Given the description of an element on the screen output the (x, y) to click on. 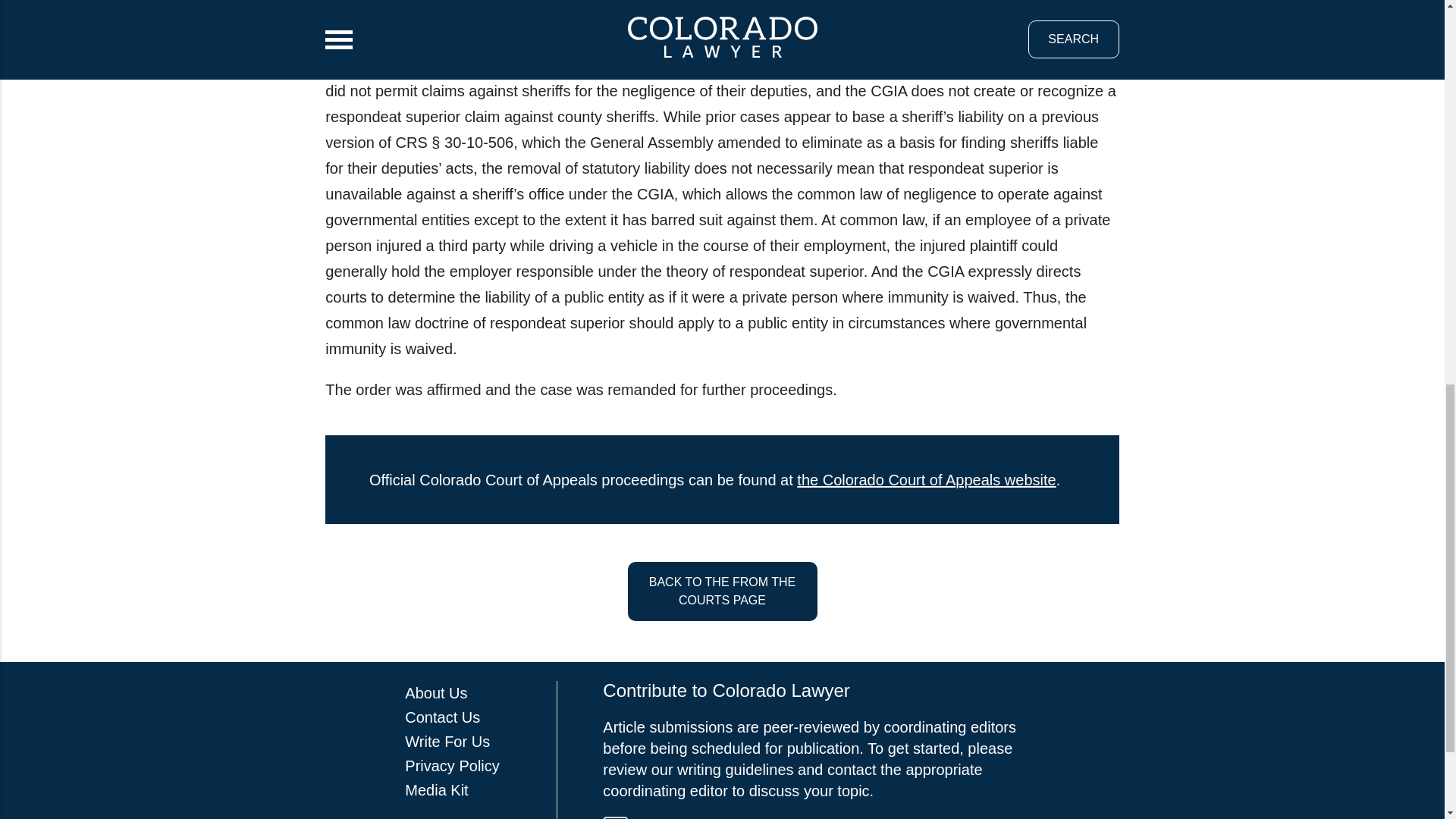
Contact Us (442, 717)
BACK TO THE FROM THE COURTS PAGE (721, 590)
the Colorado Court of Appeals website (925, 479)
Write For Us (446, 741)
Privacy Policy (451, 765)
Media Kit (435, 790)
About Us (435, 692)
